Given the description of an element on the screen output the (x, y) to click on. 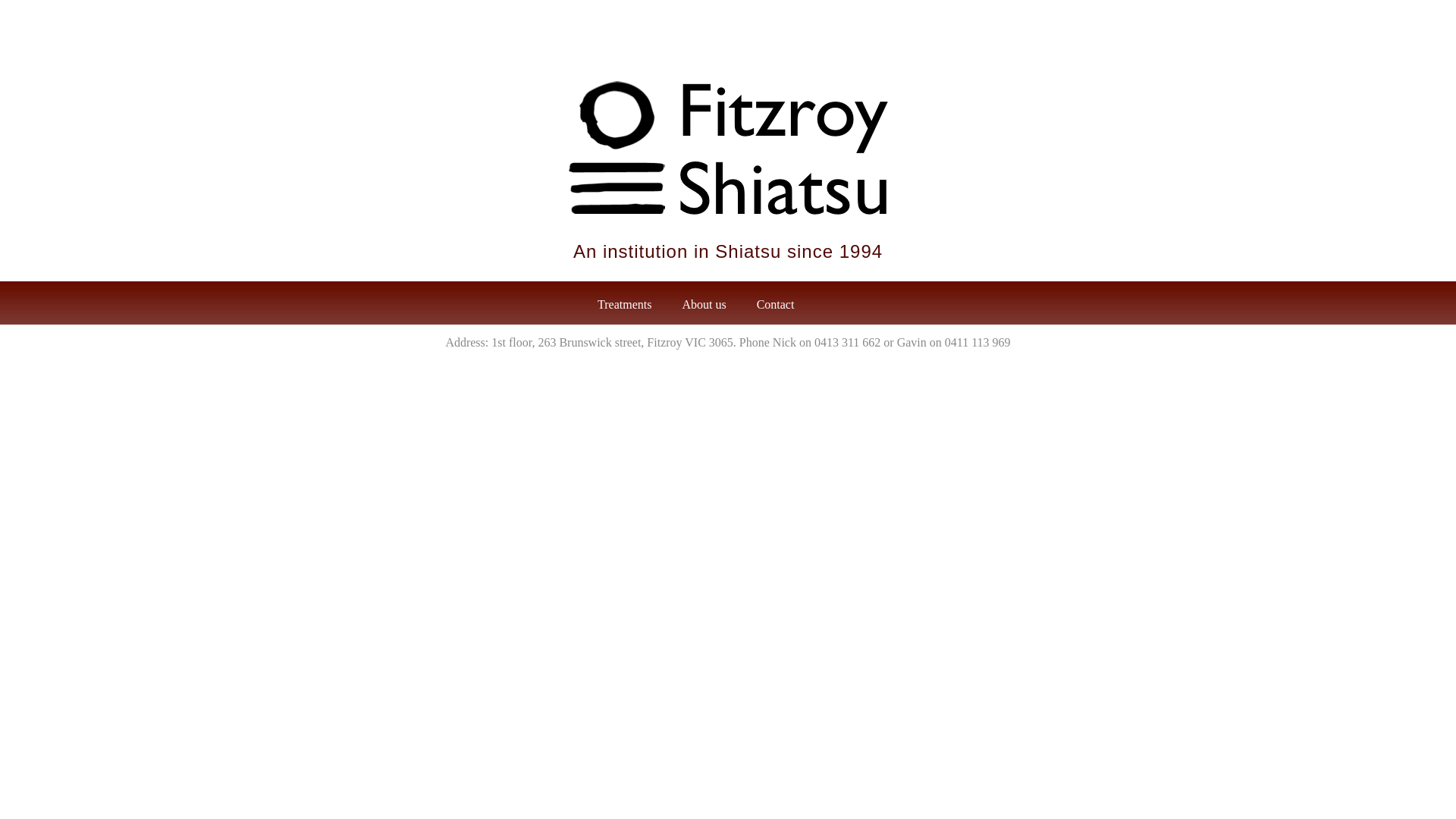
Treatments Element type: text (624, 302)
About us Element type: text (703, 302)
Contact Element type: text (775, 302)
